Given the description of an element on the screen output the (x, y) to click on. 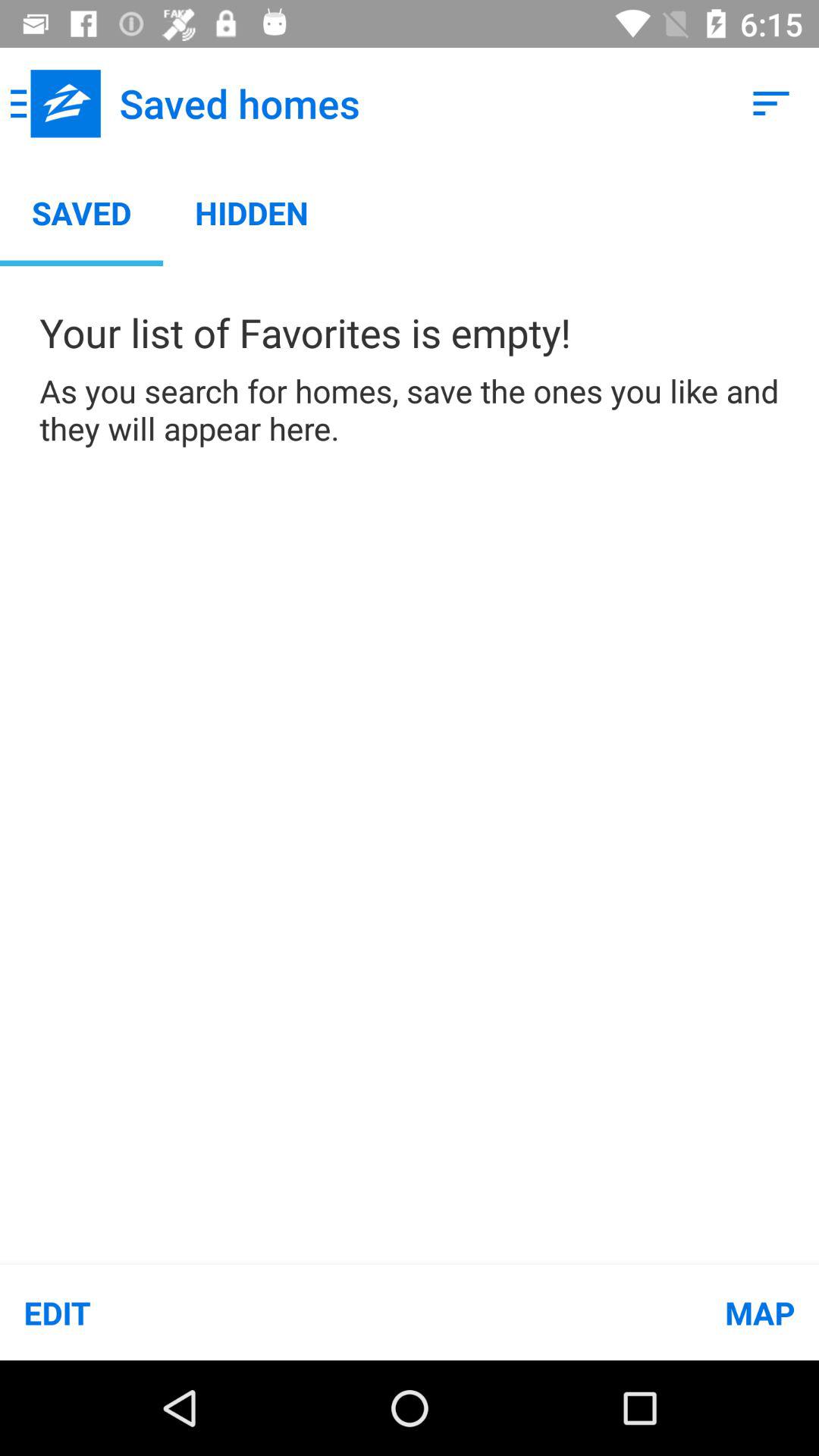
select icon at the top right corner (771, 103)
